Given the description of an element on the screen output the (x, y) to click on. 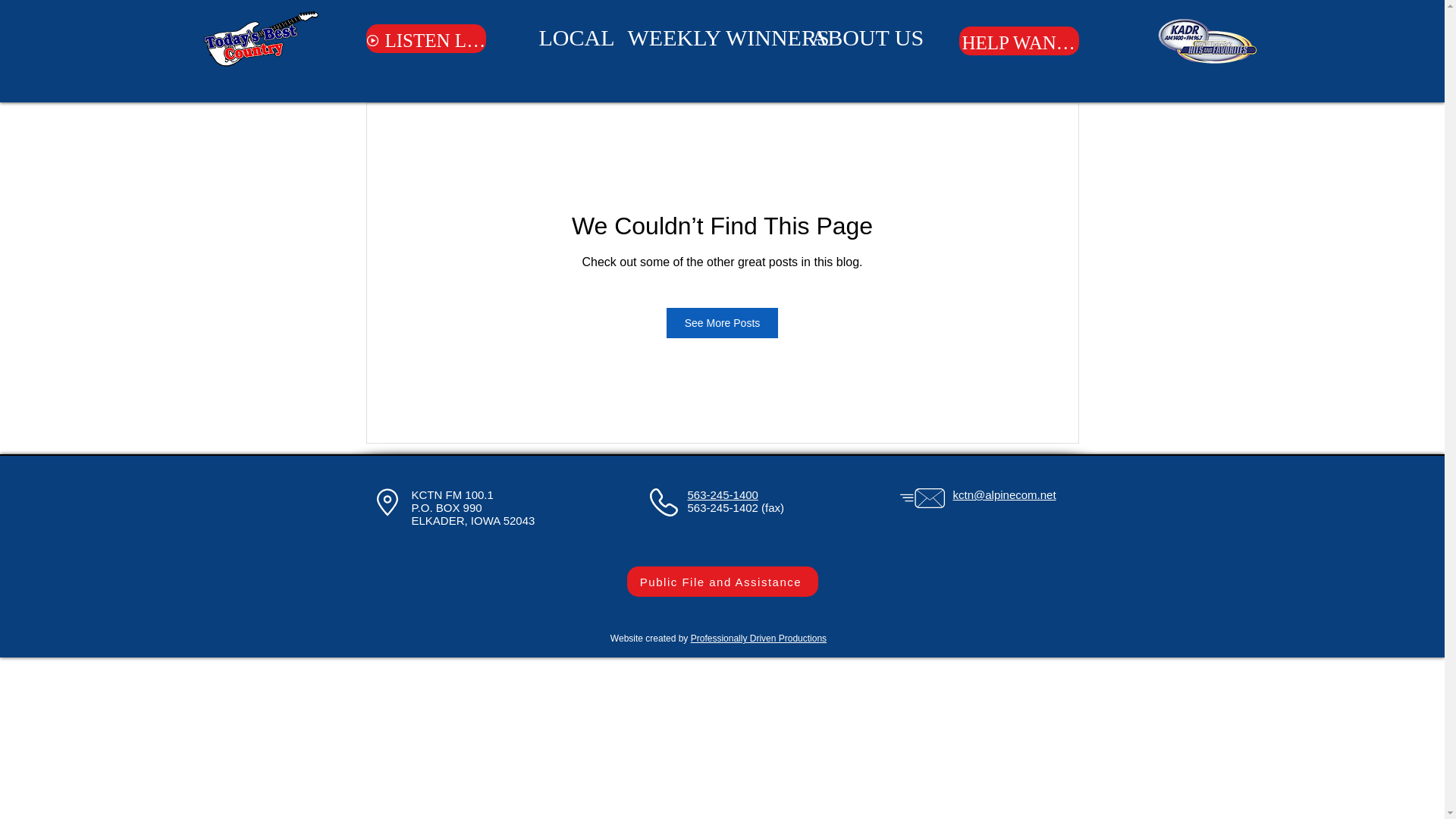
HELP WANTED (1018, 40)
563-245-1400 (722, 494)
LISTEN LIVE (424, 38)
Public File and Assistance (721, 581)
WEEKLY WINNERS (707, 37)
Professionally Driven Productions (758, 638)
See More Posts (722, 322)
